Given the description of an element on the screen output the (x, y) to click on. 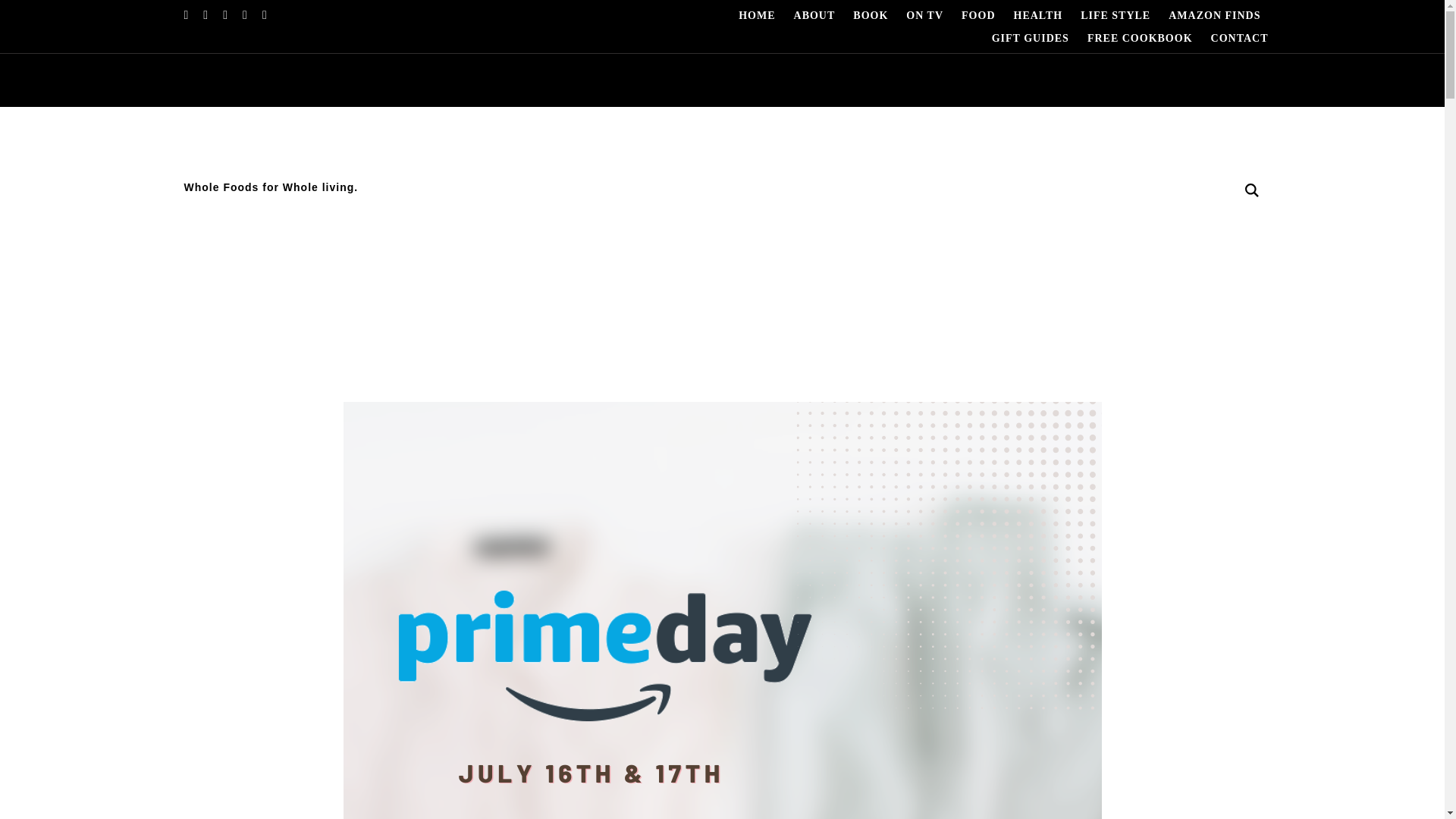
CONTACT (1239, 38)
ON TV (924, 15)
BOOK (870, 15)
HOME (756, 15)
FREE COOKBOOK (1139, 38)
ABOUT (814, 15)
FOOD (977, 15)
LIFE STYLE (1115, 15)
GIFT GUIDES (1029, 38)
HEALTH (1037, 15)
